Given the description of an element on the screen output the (x, y) to click on. 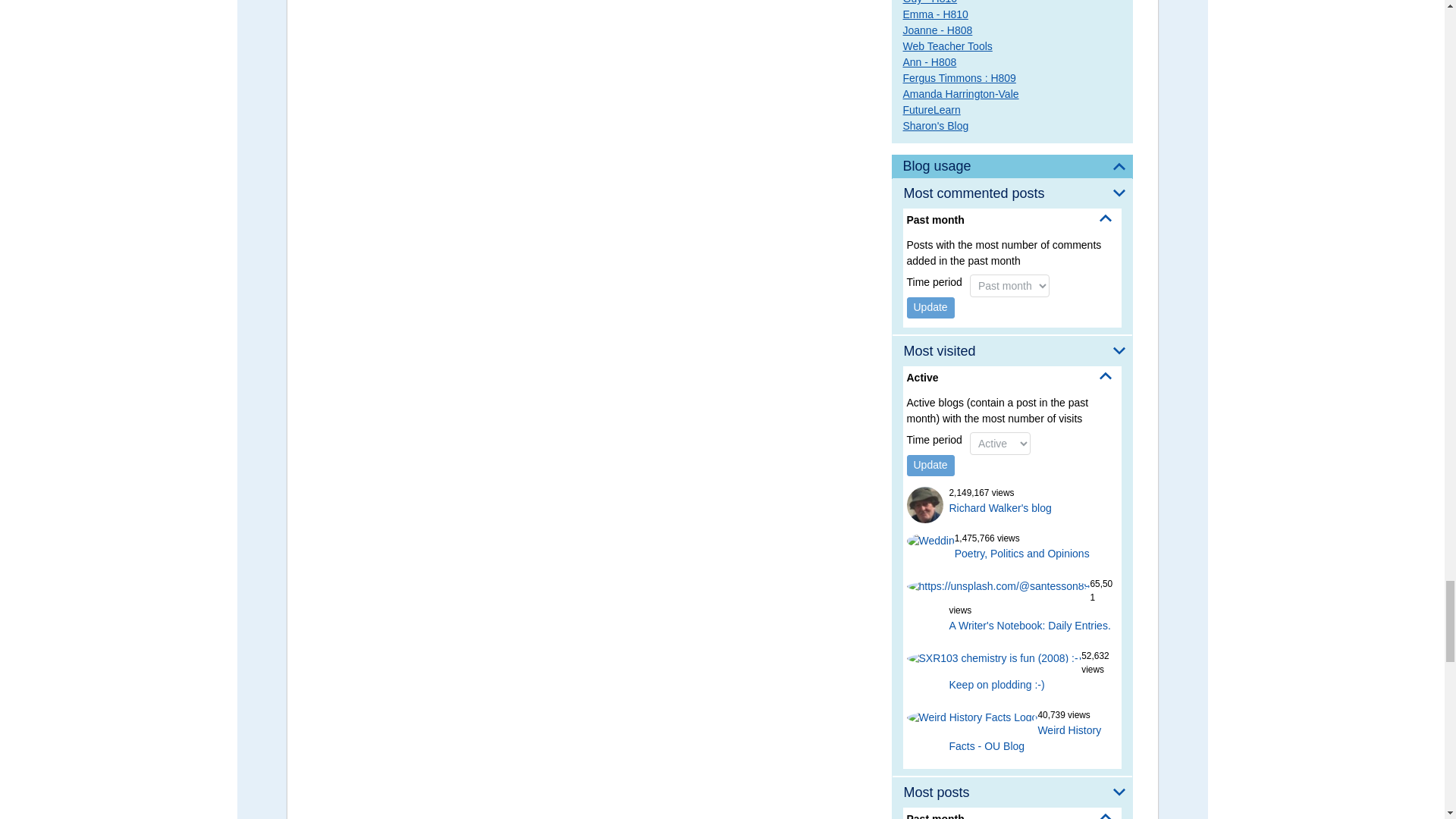
Update (931, 465)
Update (931, 307)
Blog usage (1011, 166)
Hide options (1105, 218)
